Given the description of an element on the screen output the (x, y) to click on. 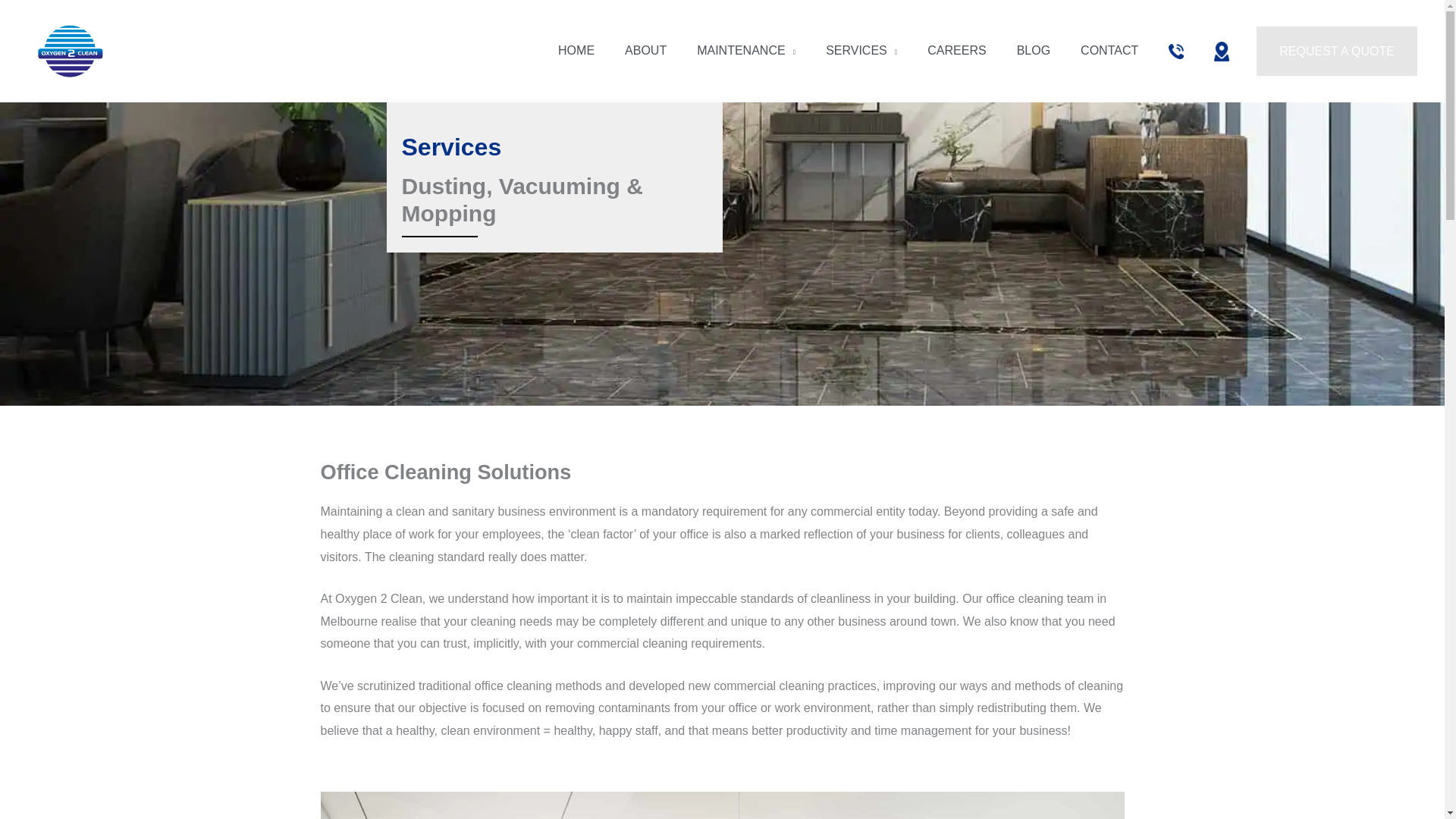
CONTACT (1109, 50)
HOME (576, 50)
BLOG (1033, 50)
SERVICES (861, 50)
MAINTENANCE (745, 50)
REQUEST A QUOTE (1336, 51)
ABOUT (645, 50)
CAREERS (956, 50)
commercial cleaning melbourne (722, 805)
